Given the description of an element on the screen output the (x, y) to click on. 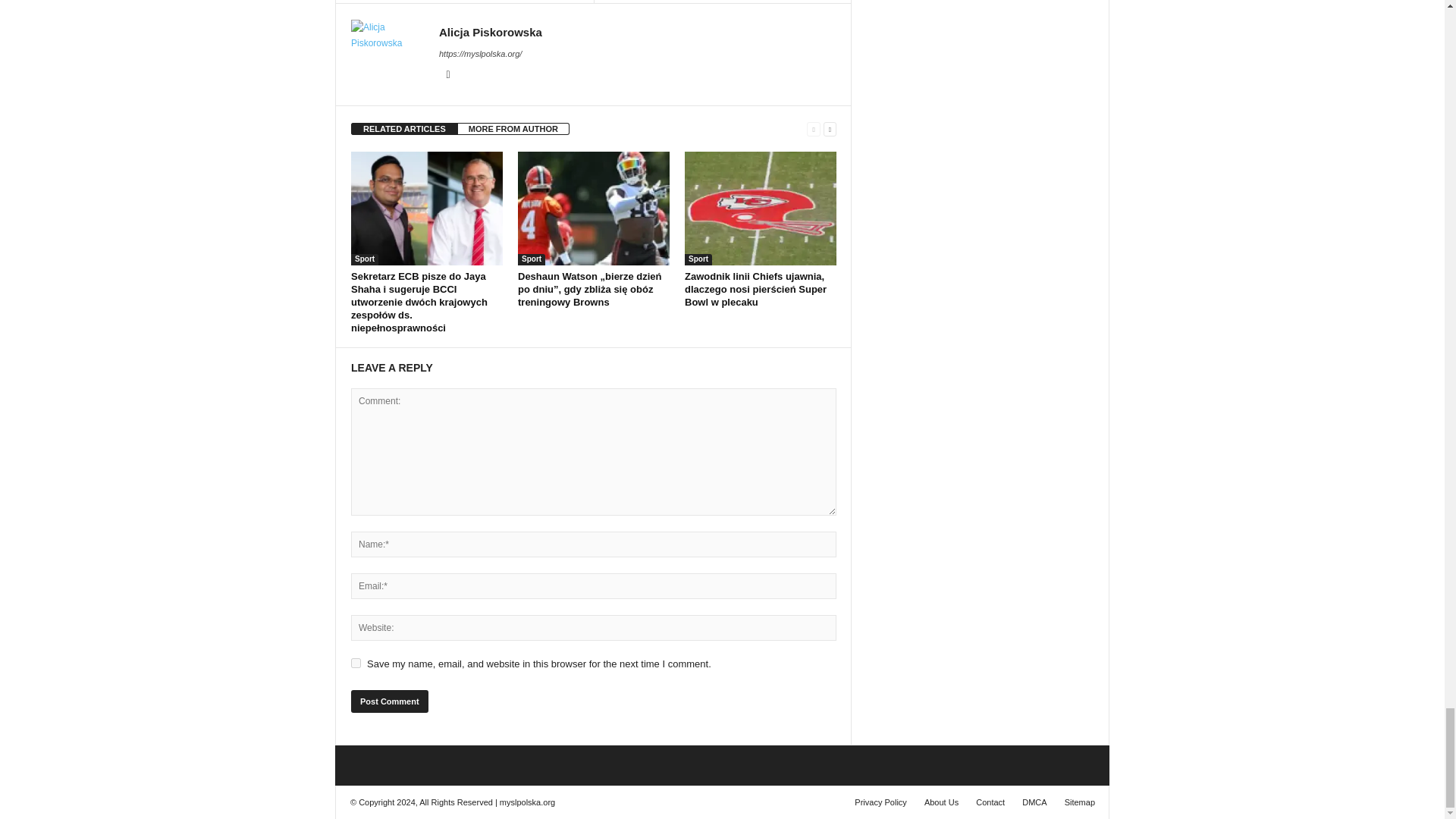
Post Comment (389, 701)
yes (355, 663)
